Given the description of an element on the screen output the (x, y) to click on. 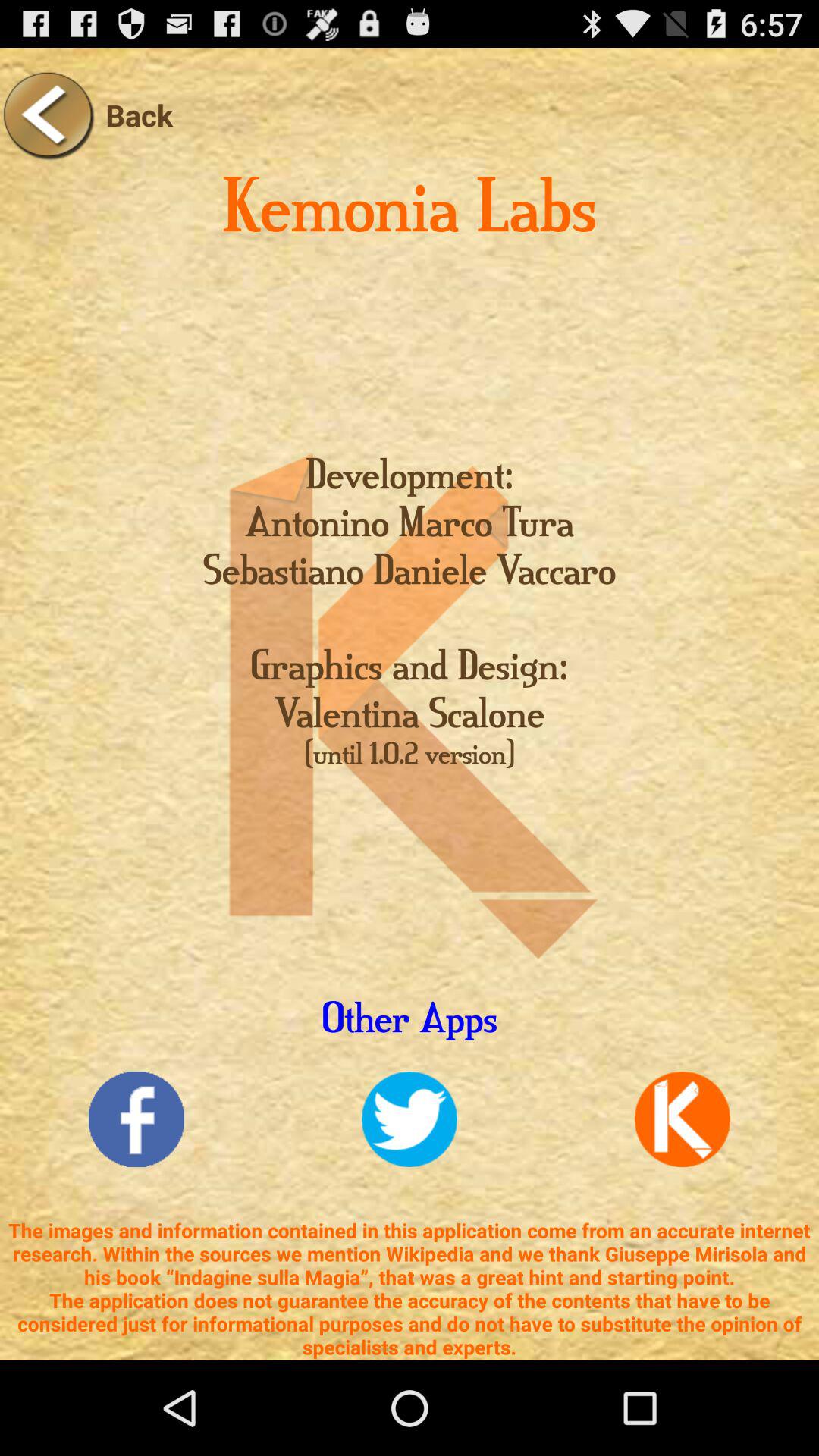
twitter link (409, 1119)
